Given the description of an element on the screen output the (x, y) to click on. 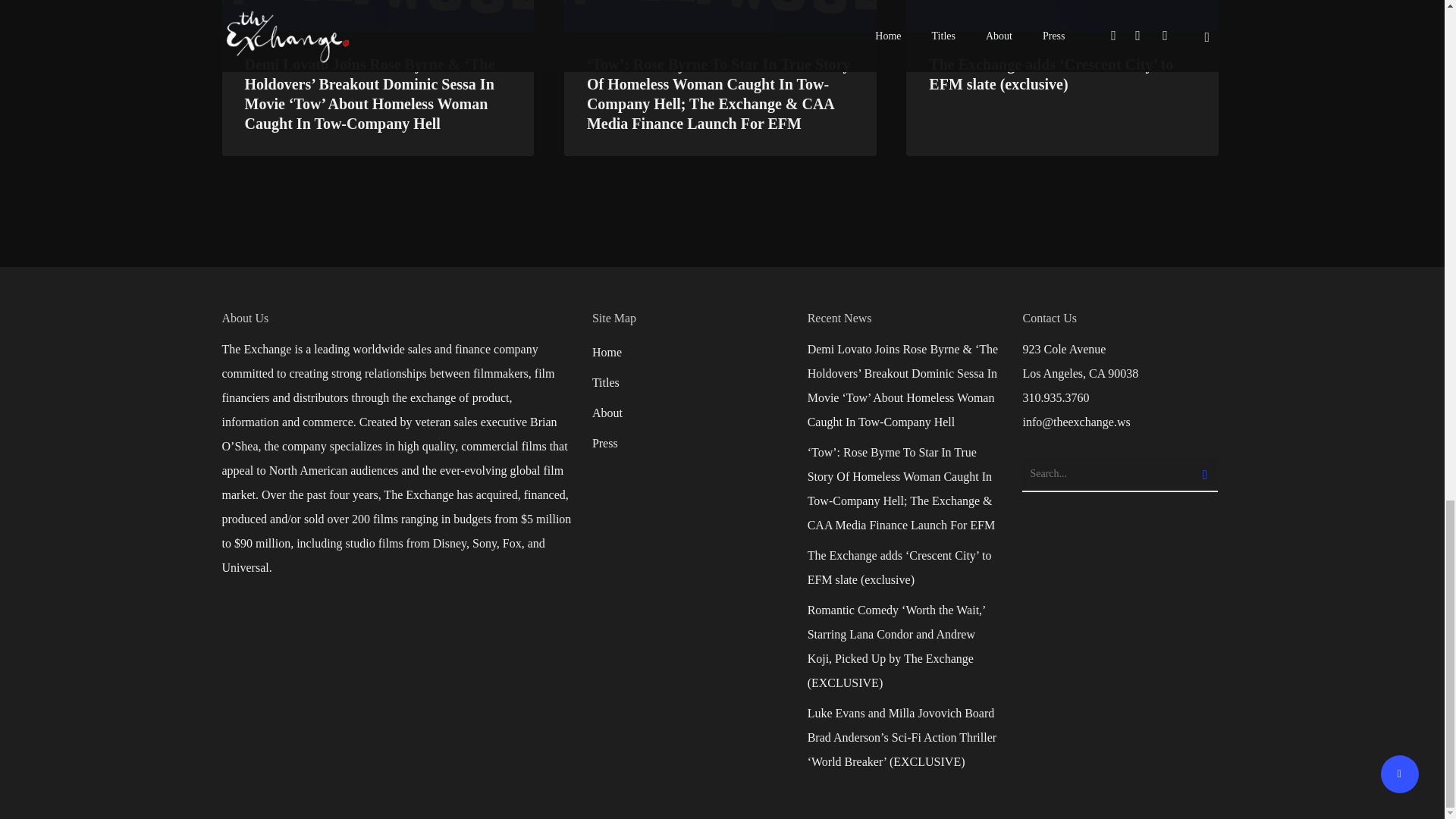
Search for: (1119, 474)
